Given the description of an element on the screen output the (x, y) to click on. 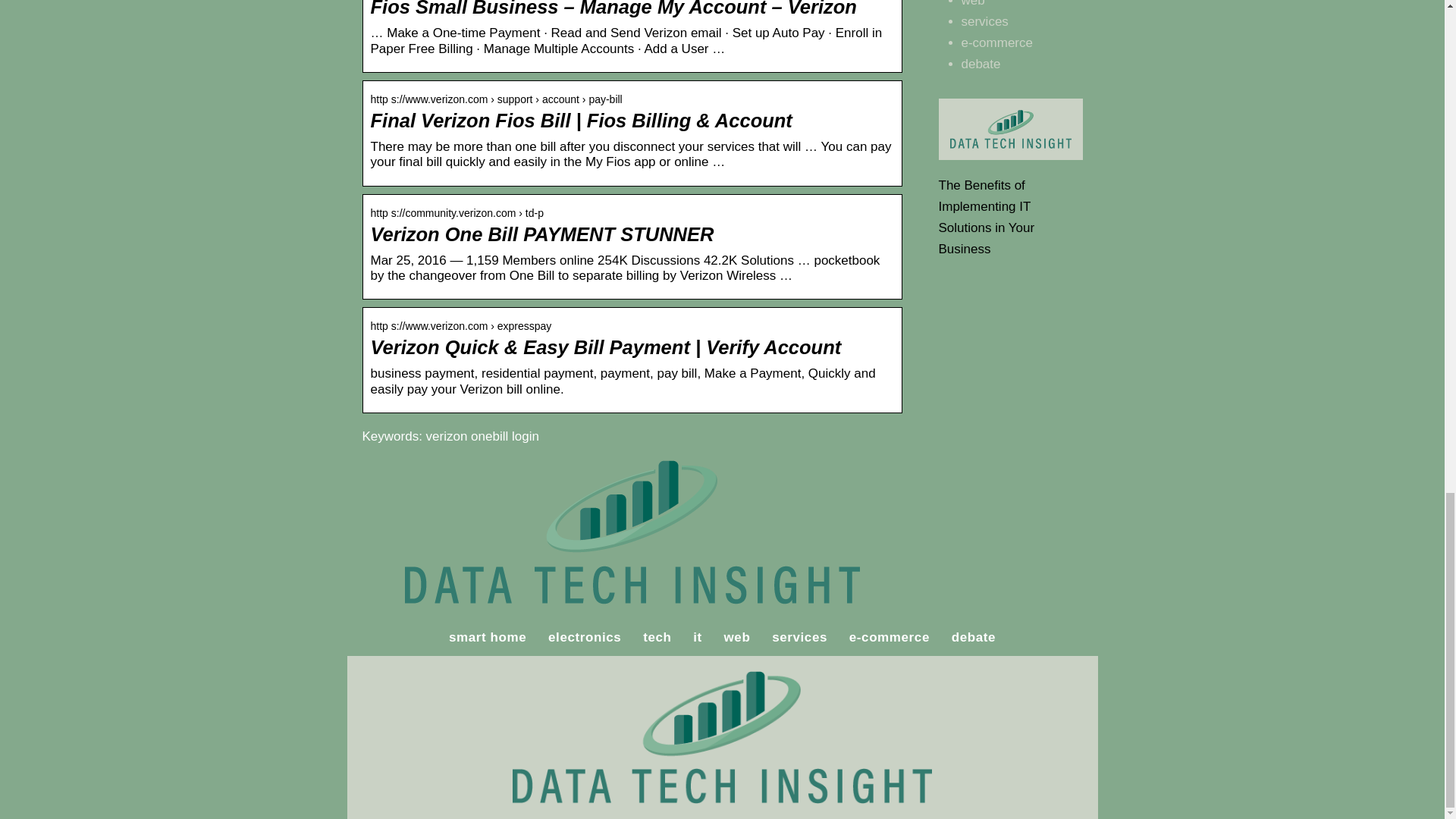
e-commerce (889, 636)
tech (657, 636)
smart home (486, 636)
web (737, 636)
e-commerce (996, 42)
web (972, 3)
debate (973, 636)
debate (980, 63)
electronics (584, 636)
The Benefits of Implementing IT Solutions in Your Business (987, 217)
